Given the description of an element on the screen output the (x, y) to click on. 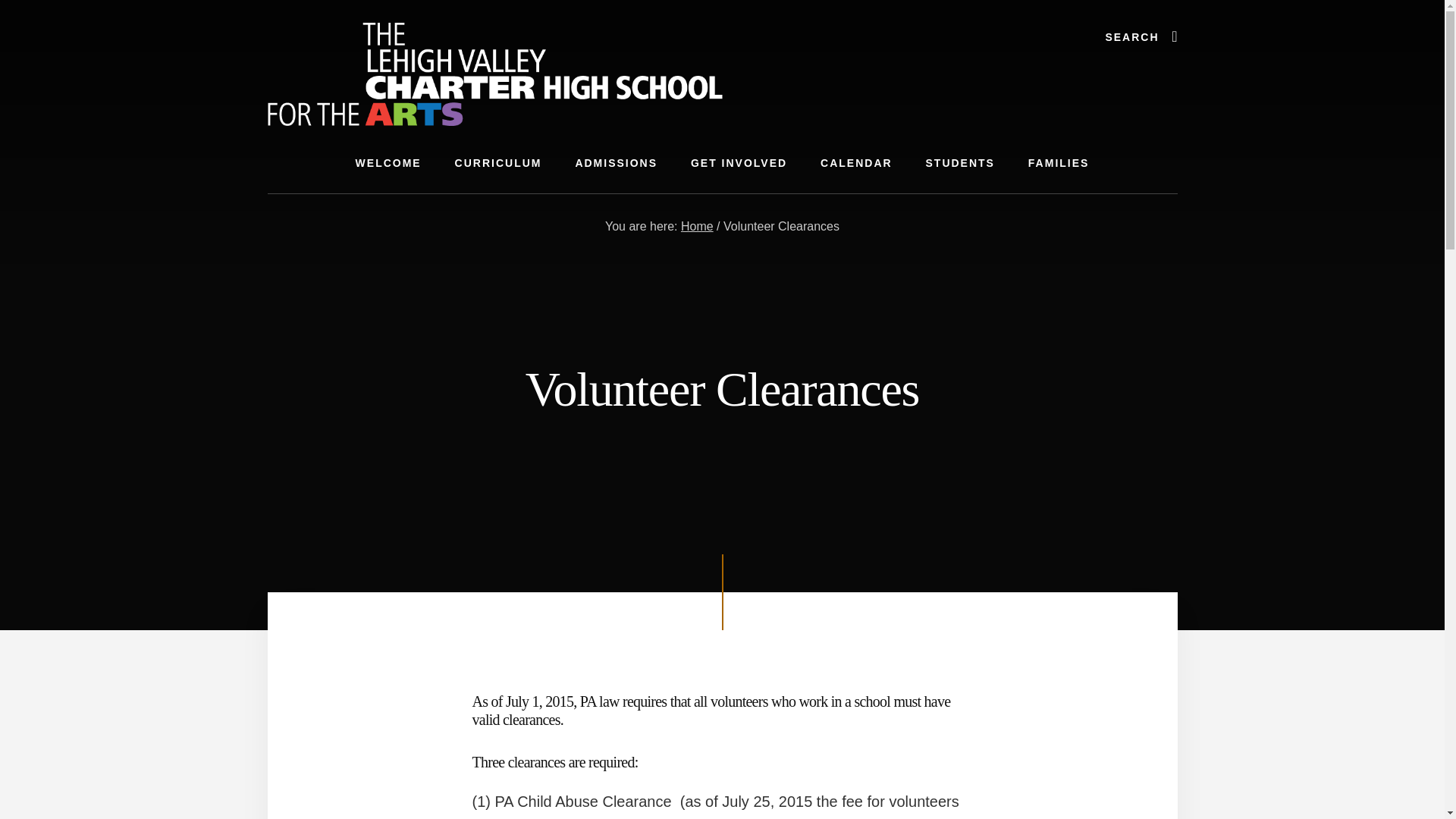
WELCOME (388, 163)
ADMISSIONS (615, 163)
CURRICULUM (498, 163)
